Given the description of an element on the screen output the (x, y) to click on. 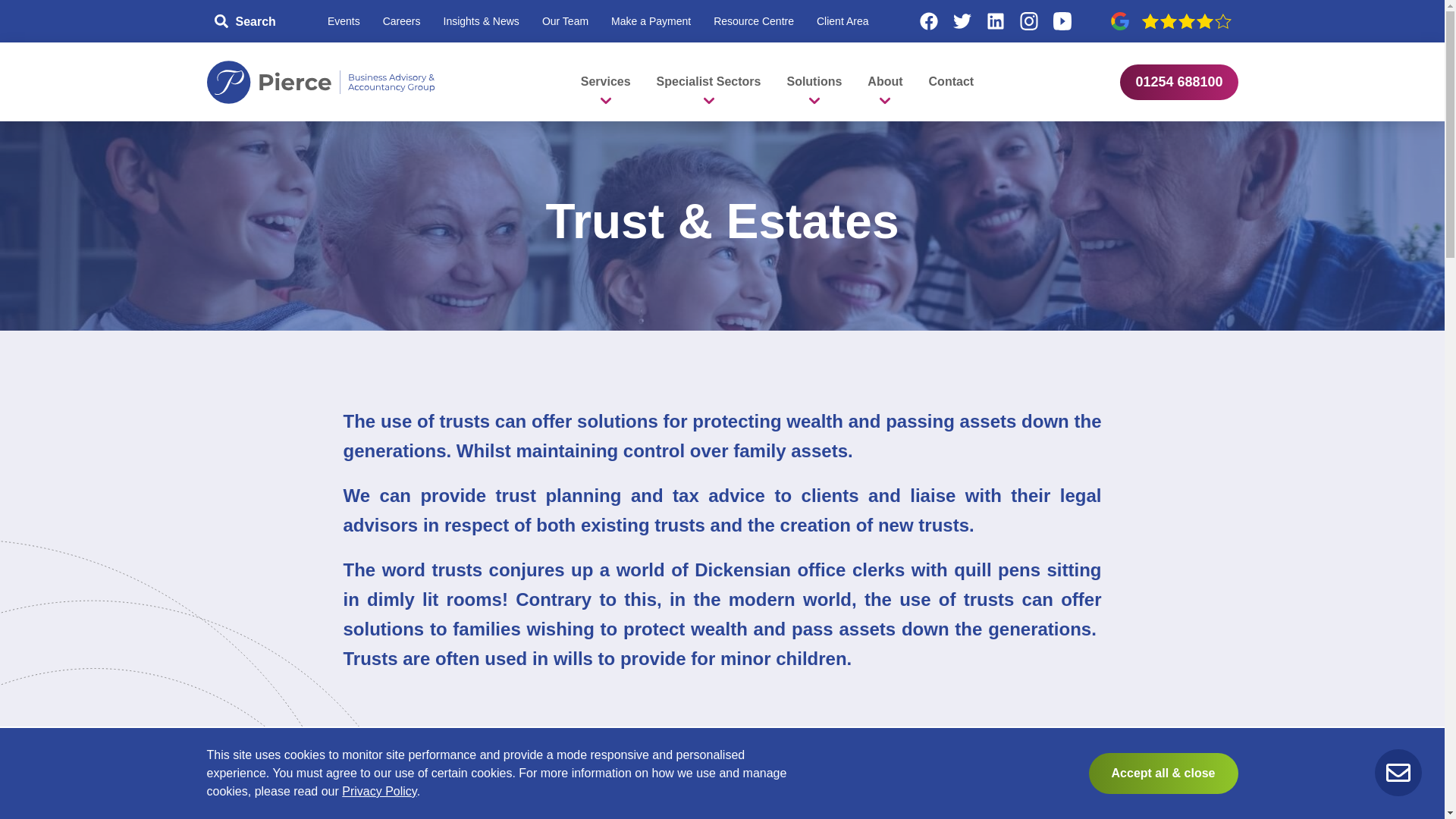
Send a Message (1398, 772)
Pierce on Youtube (1062, 21)
Pierce on Facebook (928, 21)
Pierce on Instagram (1029, 21)
Pierce on Linkedin (995, 21)
Pierce on Twitter (962, 21)
Search (246, 21)
